Given the description of an element on the screen output the (x, y) to click on. 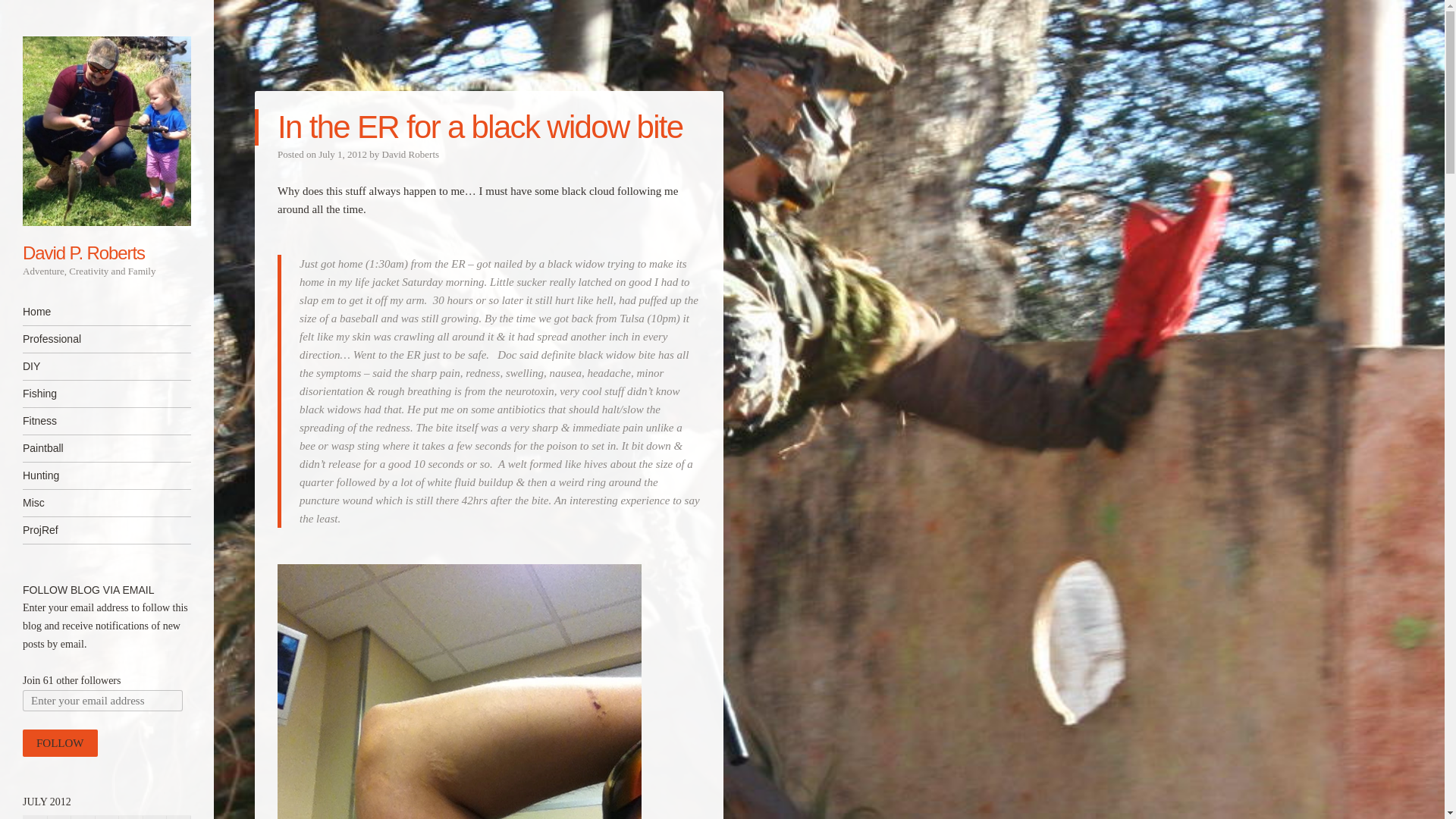
David P. Roberts (83, 252)
Fishing (106, 393)
Fitness (106, 420)
Home (106, 311)
Skip to content (58, 311)
Professional (106, 338)
David P. Roberts (83, 252)
10:23 PM (342, 153)
Skip to content (58, 311)
Paintball (106, 447)
